Given the description of an element on the screen output the (x, y) to click on. 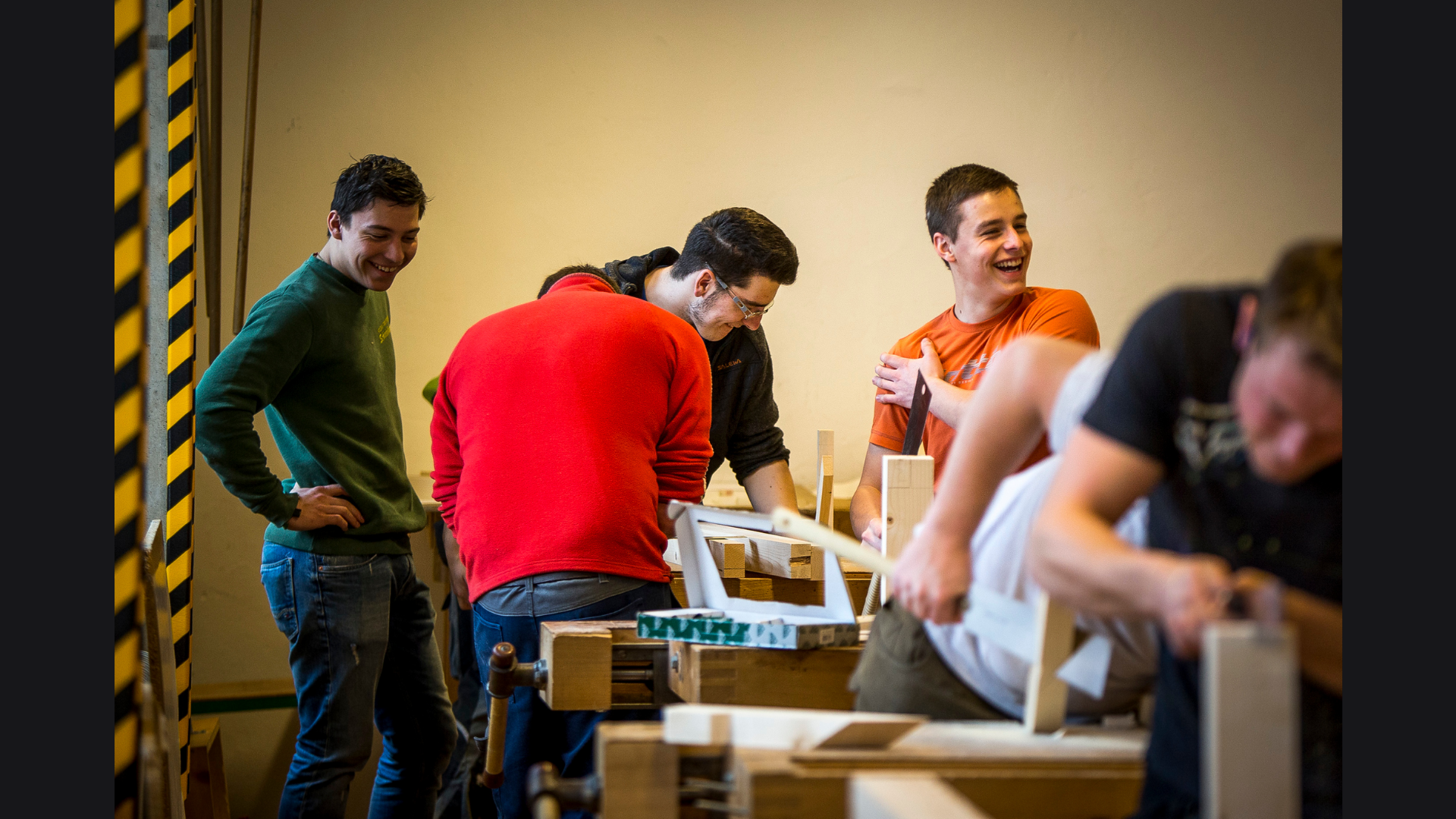
HOME Element type: text (430, 71)
Slideshow Element type: hover (1260, 197)
Kundenbereich Element type: text (89, 140)
Share Gallery Element type: hover (1222, 197)
Download All Element type: hover (1297, 197)
SUCHEN Element type: text (484, 71)
Landesberufschule Murau Element type: text (200, 140)
SERIEN Element type: text (540, 71)
KUNDENBEREICH Element type: text (619, 71)
REFERENZEN Element type: text (789, 71)
TOURISMUS Element type: text (709, 71)
KONTAKT Element type: text (925, 71)
Tom Lamm Photography Element type: text (727, 37)
DHARMA Element type: text (862, 71)
DATENSCHUTZ Element type: text (1003, 71)
BUY PHOTOS Element type: text (1381, 197)
